Given the description of an element on the screen output the (x, y) to click on. 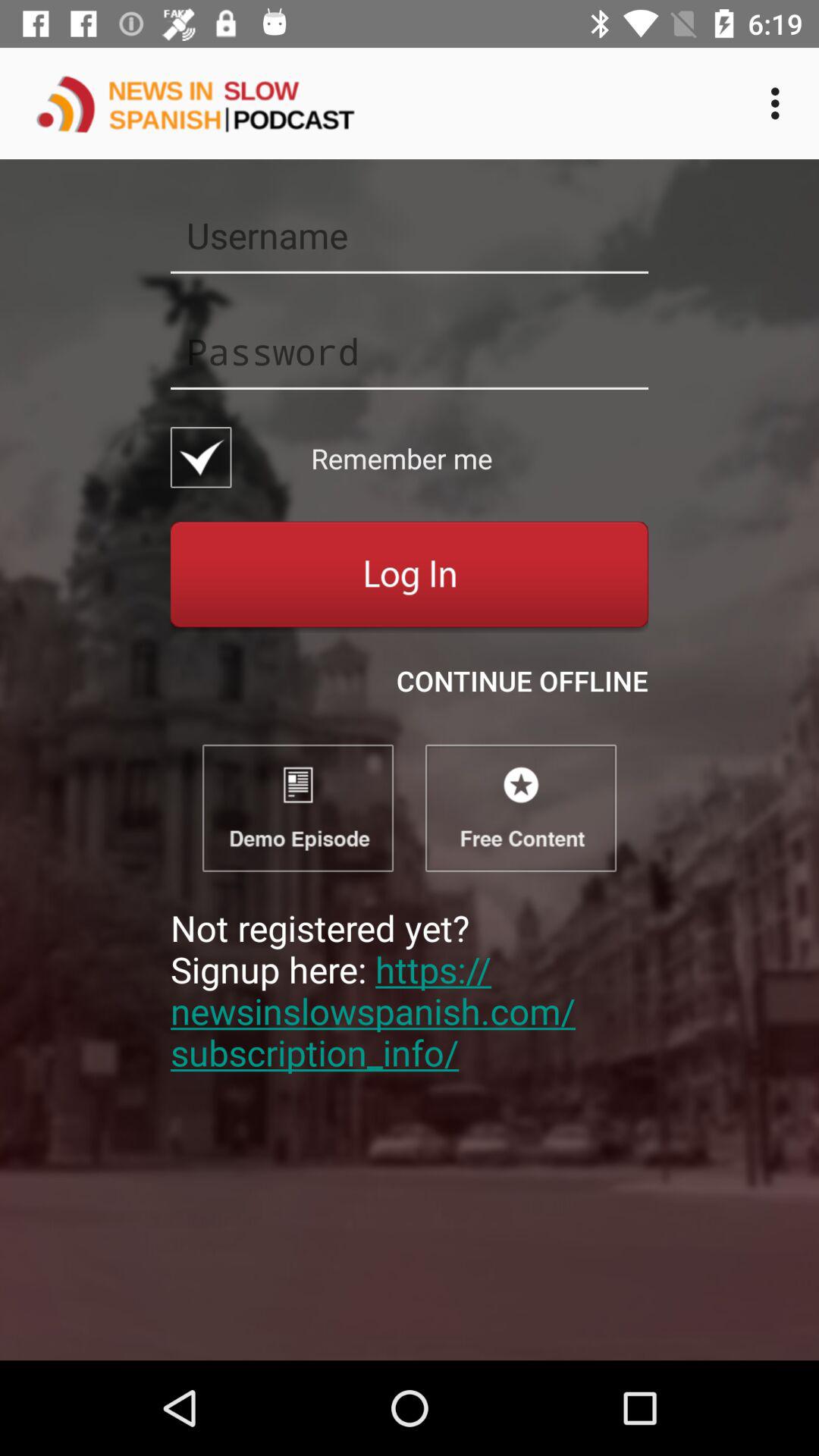
enter password (409, 351)
